Given the description of an element on the screen output the (x, y) to click on. 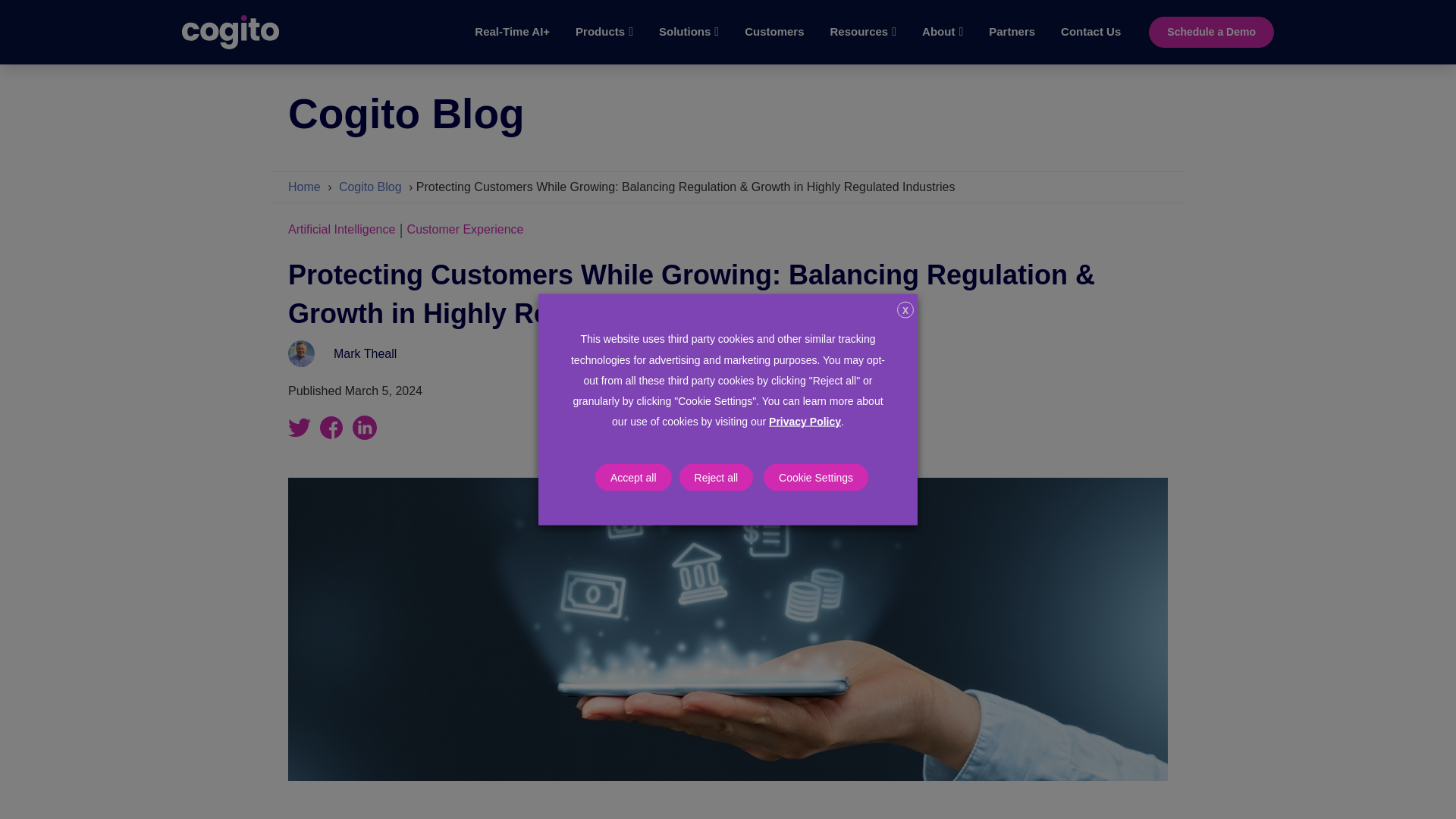
Close and Accept (905, 310)
Customers (773, 39)
Cogito (230, 32)
Products (605, 39)
Solutions (690, 39)
Resources (864, 39)
About (943, 39)
